Given the description of an element on the screen output the (x, y) to click on. 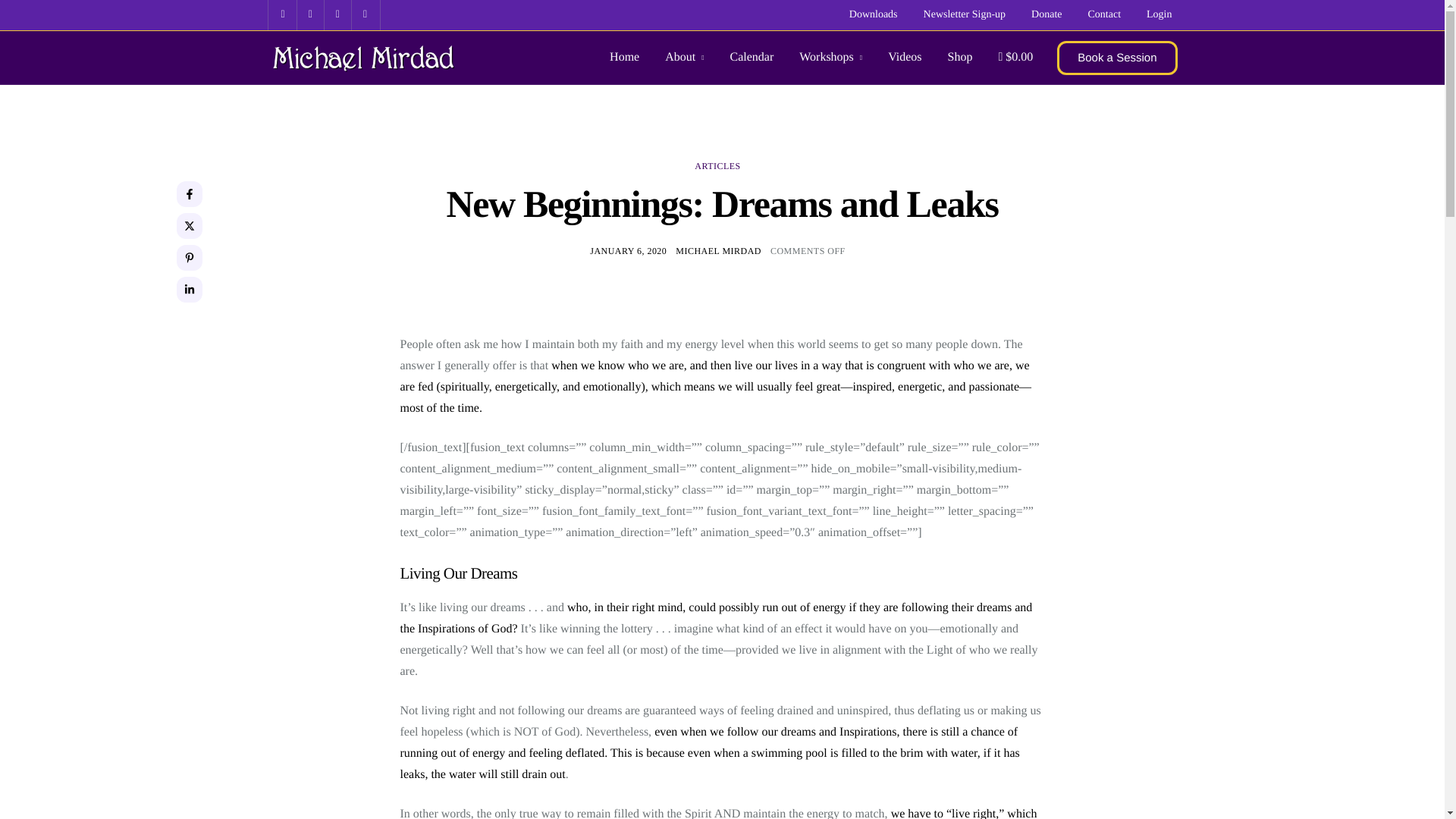
Home (624, 57)
Login (1159, 15)
Start shopping (1014, 57)
Calendar (751, 57)
Share on Facebook (189, 193)
Newsletter Sign-up (964, 15)
Workshops (830, 57)
Videos (904, 57)
Book a Session (1116, 57)
Share on X (189, 225)
Downloads (873, 15)
Shop (959, 57)
Contact (1104, 15)
About (684, 57)
Share on Pinterest (189, 257)
